Given the description of an element on the screen output the (x, y) to click on. 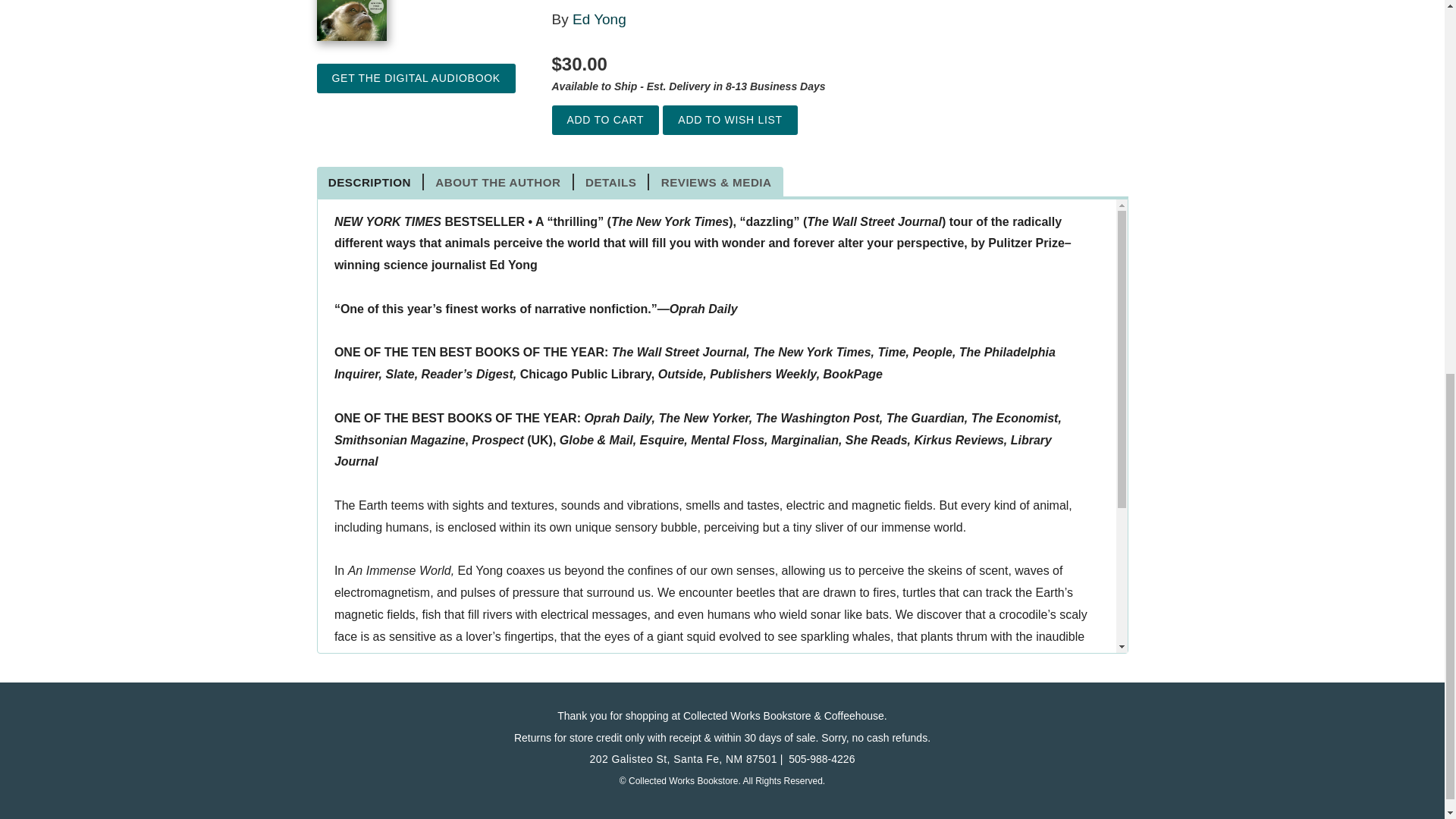
Add to Cart (605, 120)
Ed Yong (599, 19)
Add to Cart (605, 120)
DESCRIPTION (371, 181)
Get the Digital Audiobook (416, 78)
ABOUT THE AUTHOR (498, 181)
Add to Wish List (729, 120)
Get the Digital Audiobook (416, 78)
Add to Wish List (729, 120)
DETAILS (611, 181)
202 Galisteo St, Santa Fe, NM 87501 (683, 758)
